Given the description of an element on the screen output the (x, y) to click on. 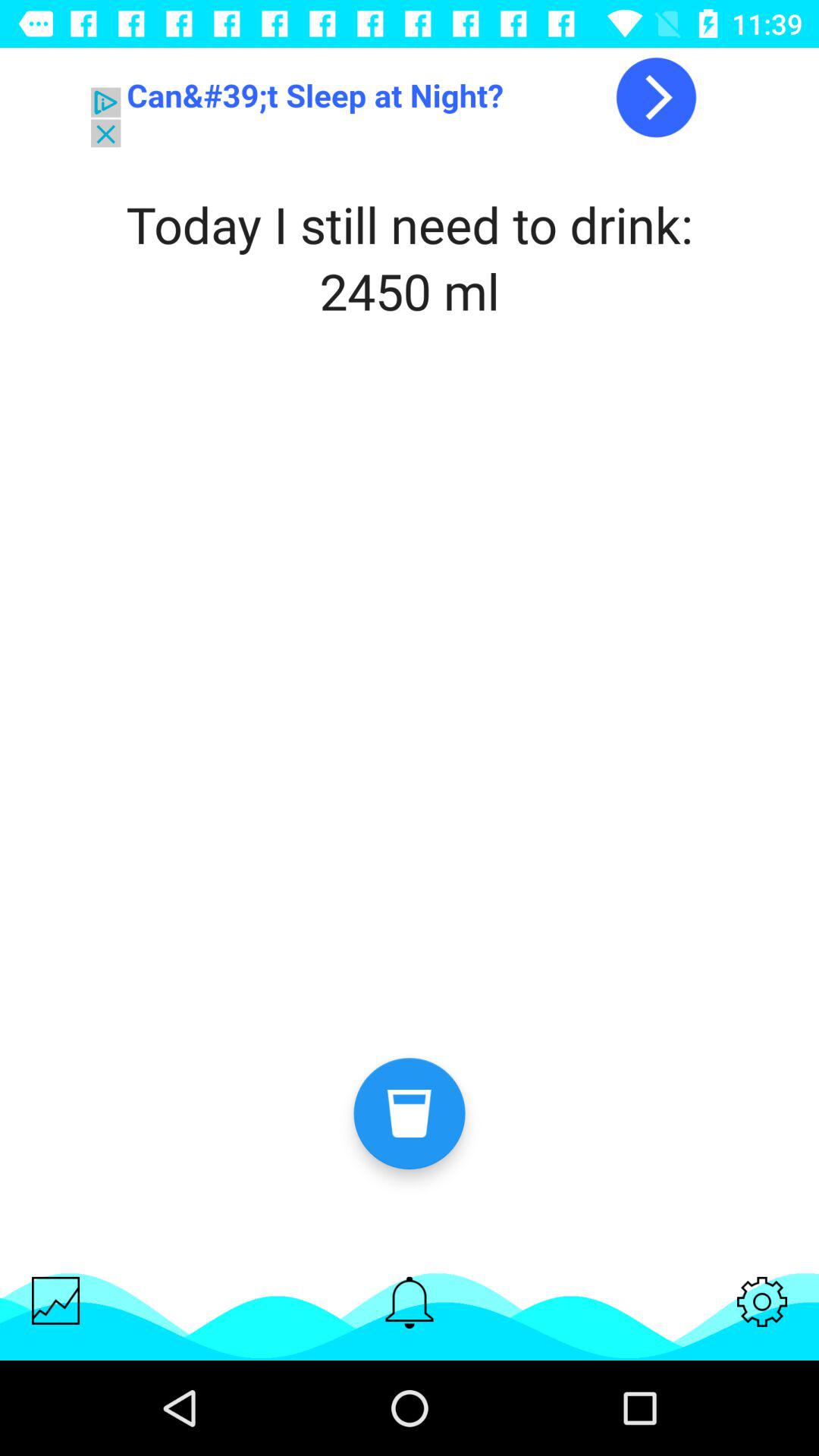
go to notifications (409, 1302)
